Given the description of an element on the screen output the (x, y) to click on. 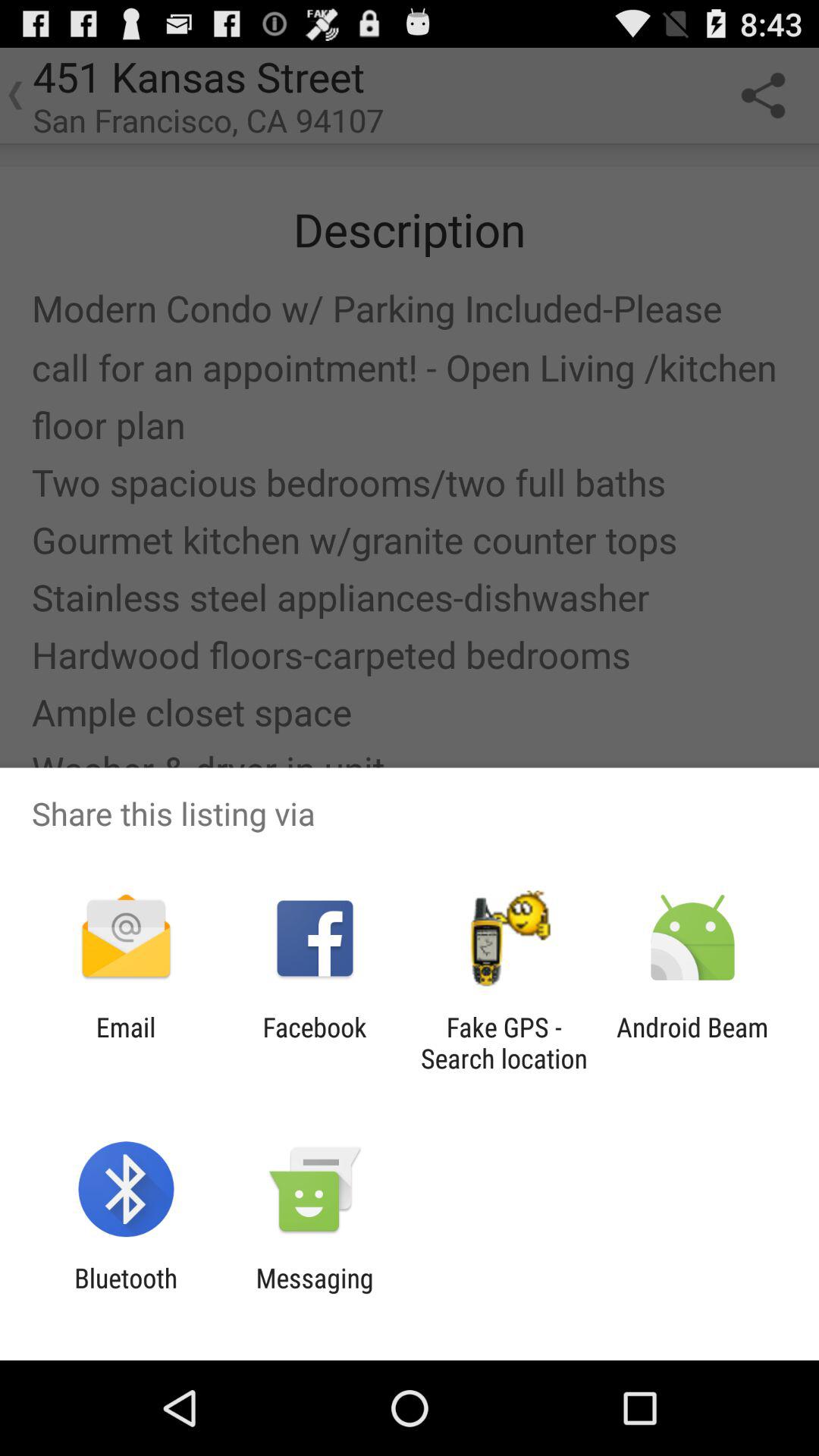
launch app to the left of android beam app (503, 1042)
